Given the description of an element on the screen output the (x, y) to click on. 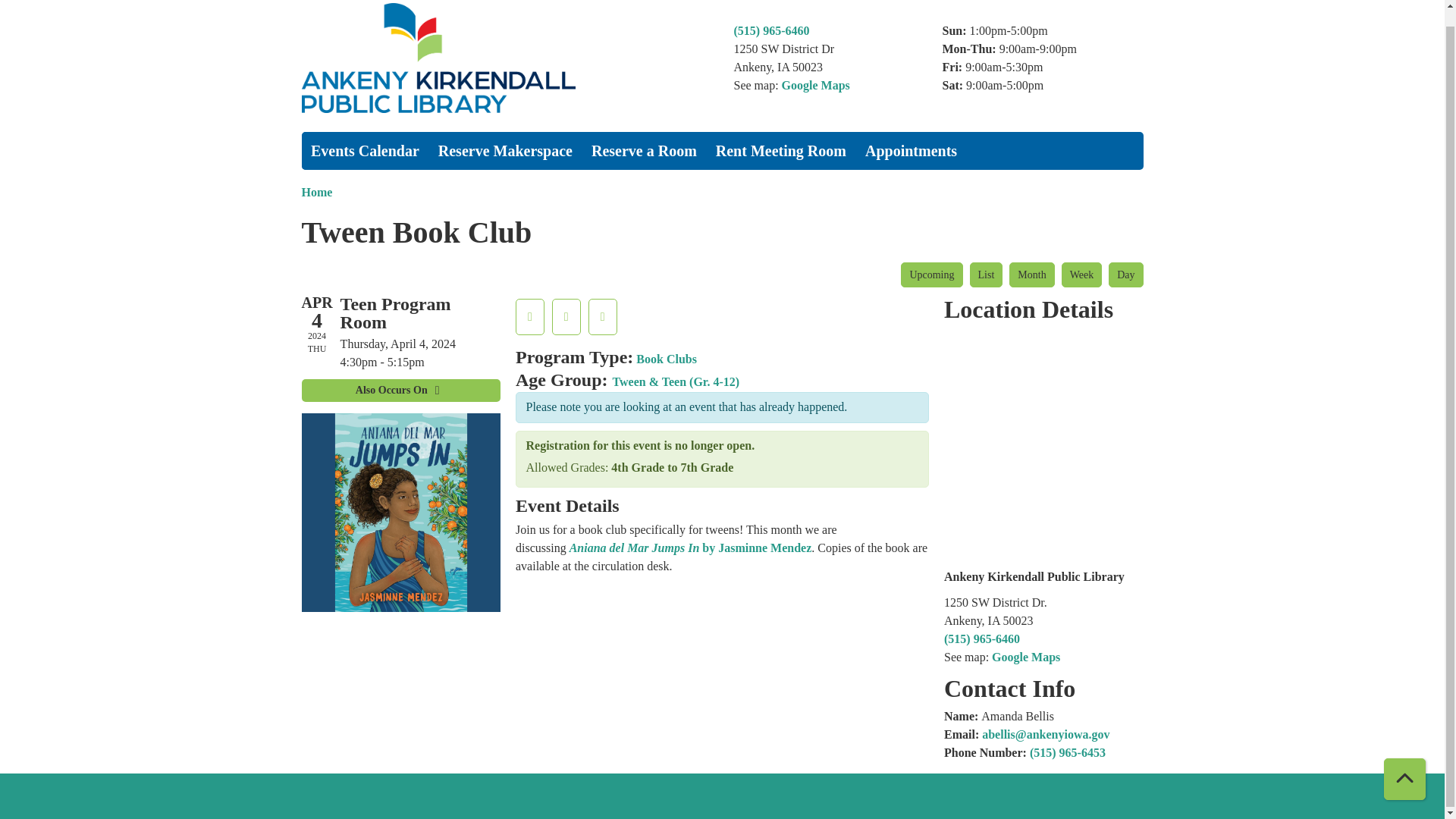
Google Maps (815, 83)
Month (1031, 274)
Aniana del Mar Jumps In by Jasminne Mendez (690, 547)
Back To Top (1404, 762)
List (986, 274)
Reserve a Room (643, 150)
Book Clubs (666, 358)
Home (317, 192)
Upcoming (931, 274)
Appointments (911, 150)
Reserve Makerspace (504, 150)
Events Calendar (365, 150)
Day (1125, 274)
Home (506, 62)
